Given the description of an element on the screen output the (x, y) to click on. 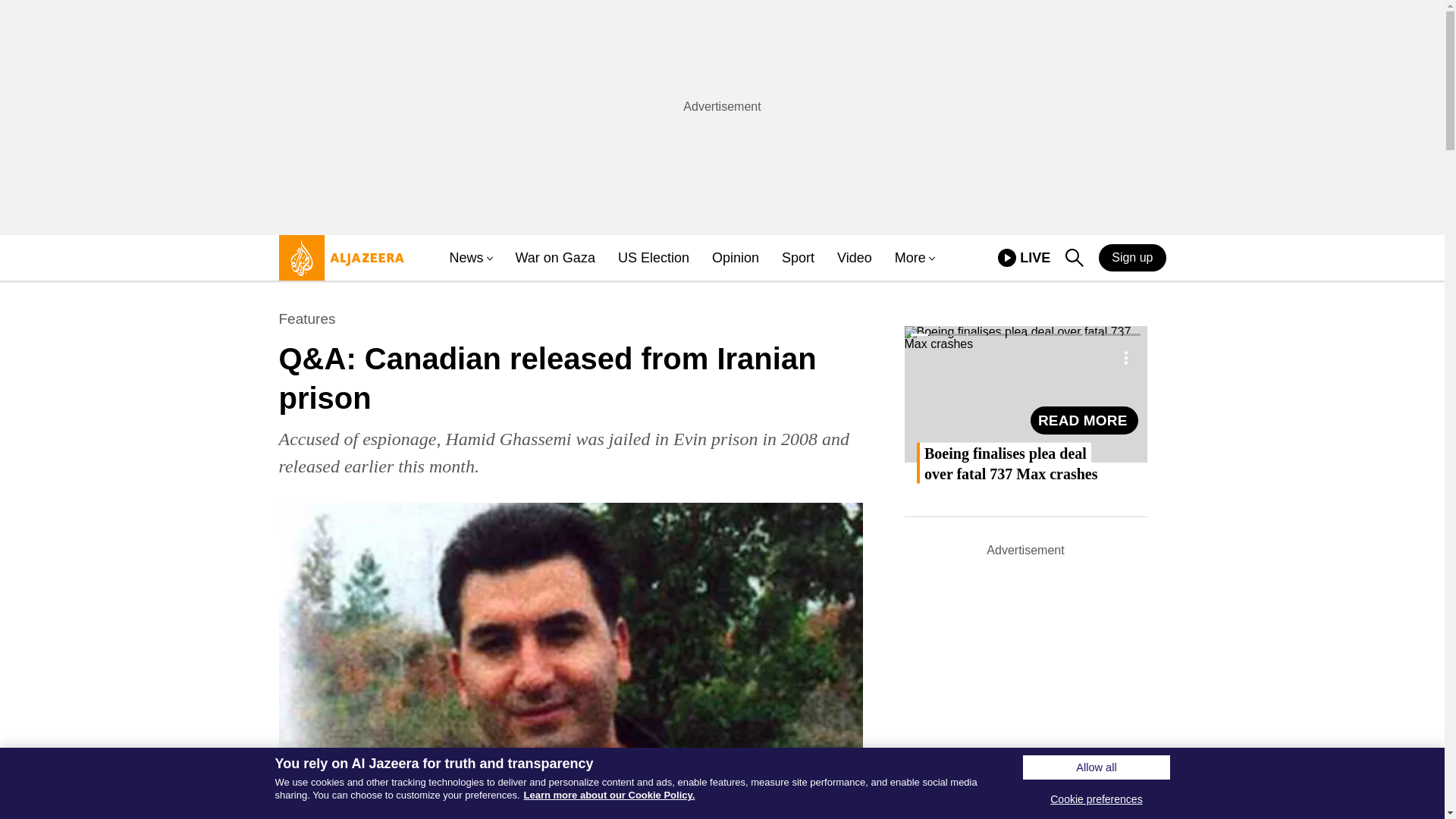
Boeing finalises plea deal over fatal 737 Max crashes (1084, 420)
Features (307, 319)
Sign up (1132, 257)
US Election (652, 257)
Sport (797, 257)
Video (854, 257)
search (1074, 257)
Skip to Content (337, 264)
Opinion (734, 257)
play (1023, 257)
More (1006, 257)
News (910, 257)
War on Gaza (465, 257)
